Given the description of an element on the screen output the (x, y) to click on. 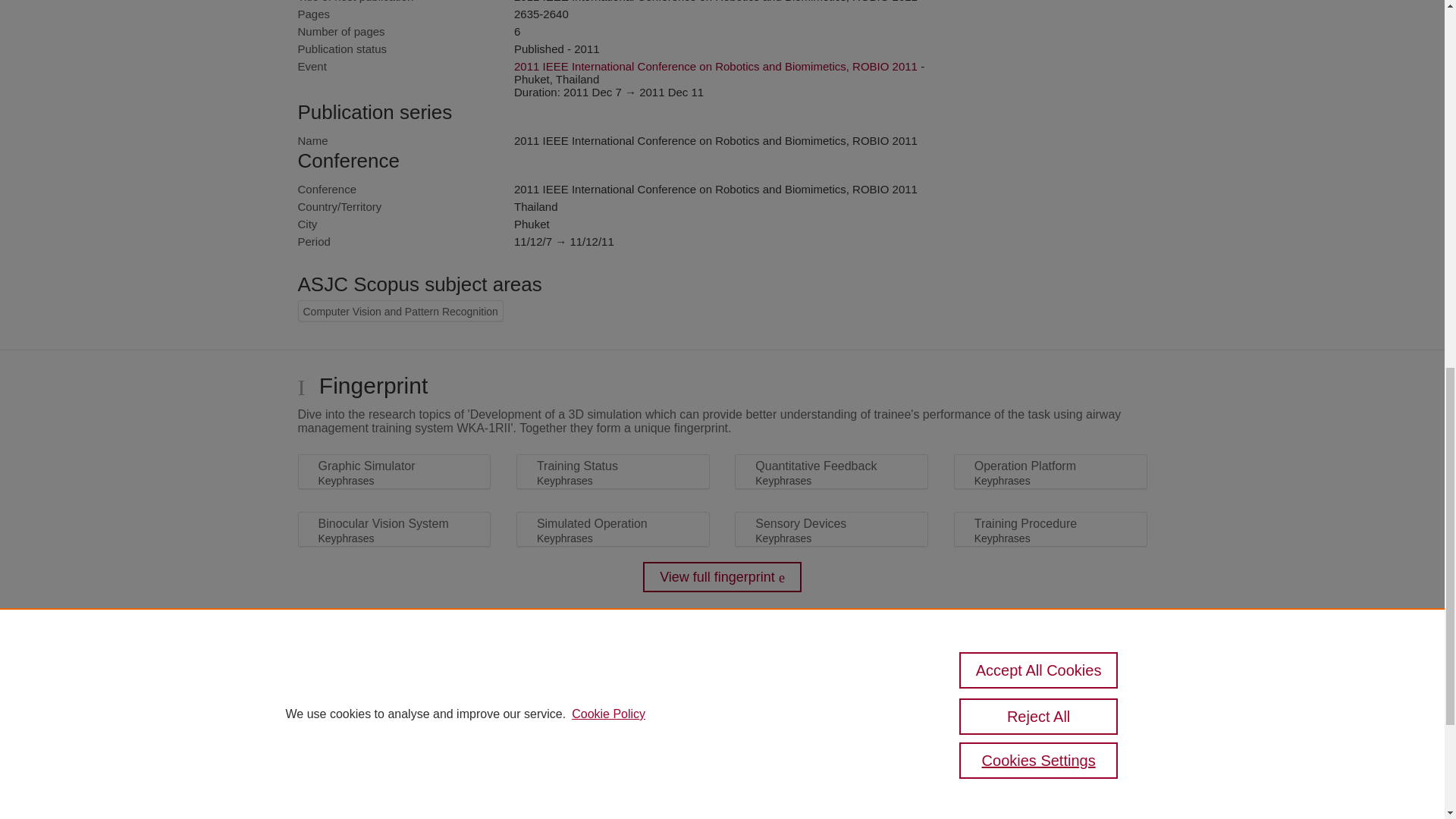
View full fingerprint (722, 576)
